Given the description of an element on the screen output the (x, y) to click on. 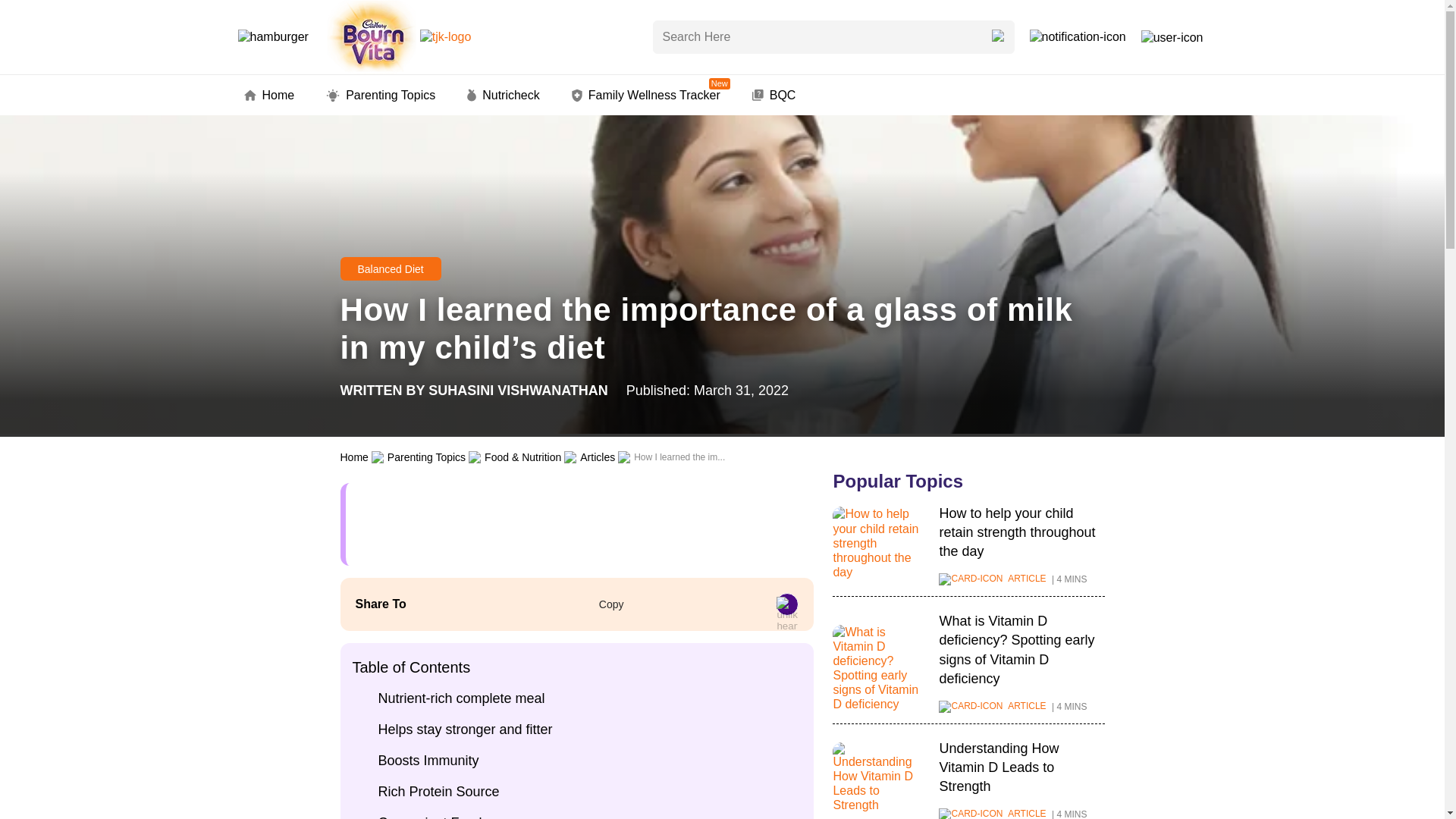
BQC (773, 95)
Home (269, 95)
Parenting Topics (380, 95)
Home (353, 457)
SUHASINI VISHWANATHAN (646, 95)
Nutricheck (518, 390)
Balanced Diet (503, 95)
Articles (390, 268)
